Given the description of an element on the screen output the (x, y) to click on. 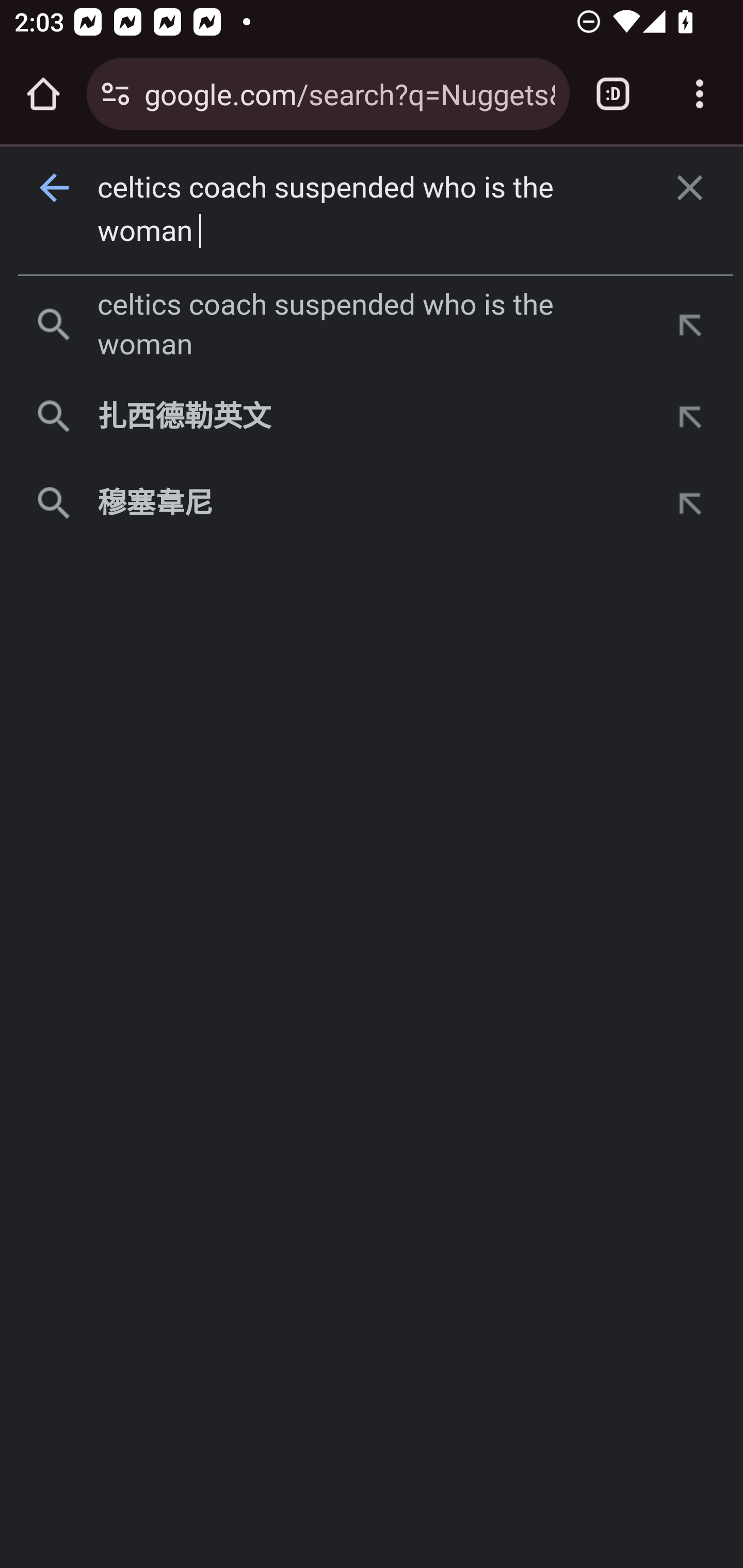
Open the home page (43, 93)
Connection is secure (115, 93)
Switch or close tabs (612, 93)
Customize and control Google Chrome (699, 93)
上一頁 (54, 188)
清除搜尋內容 (690, 188)
celtics coach suspended who is the woman  (372, 210)
航班 (703, 378)
